Given the description of an element on the screen output the (x, y) to click on. 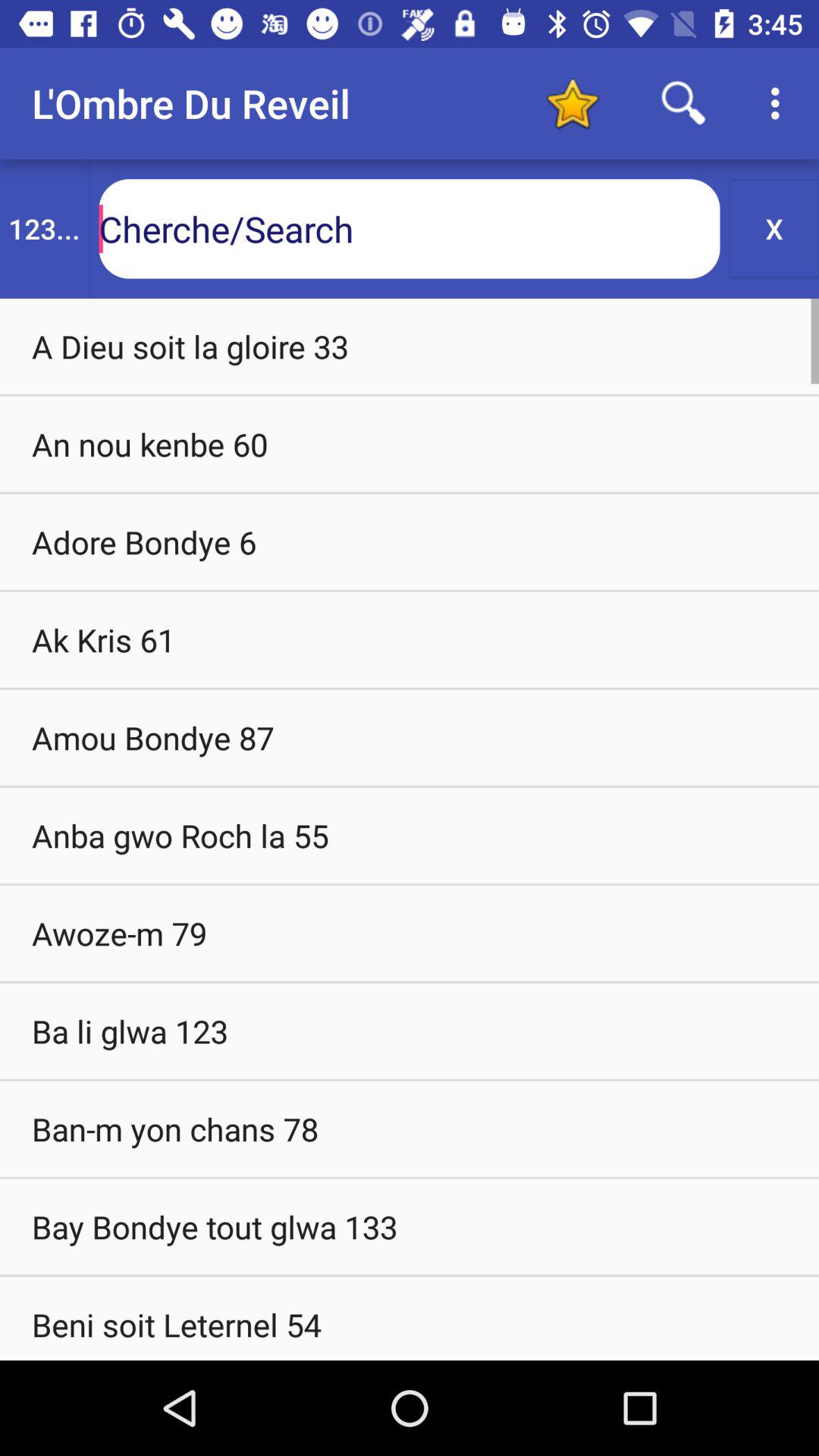
turn off icon above the anba gwo roch icon (409, 737)
